Given the description of an element on the screen output the (x, y) to click on. 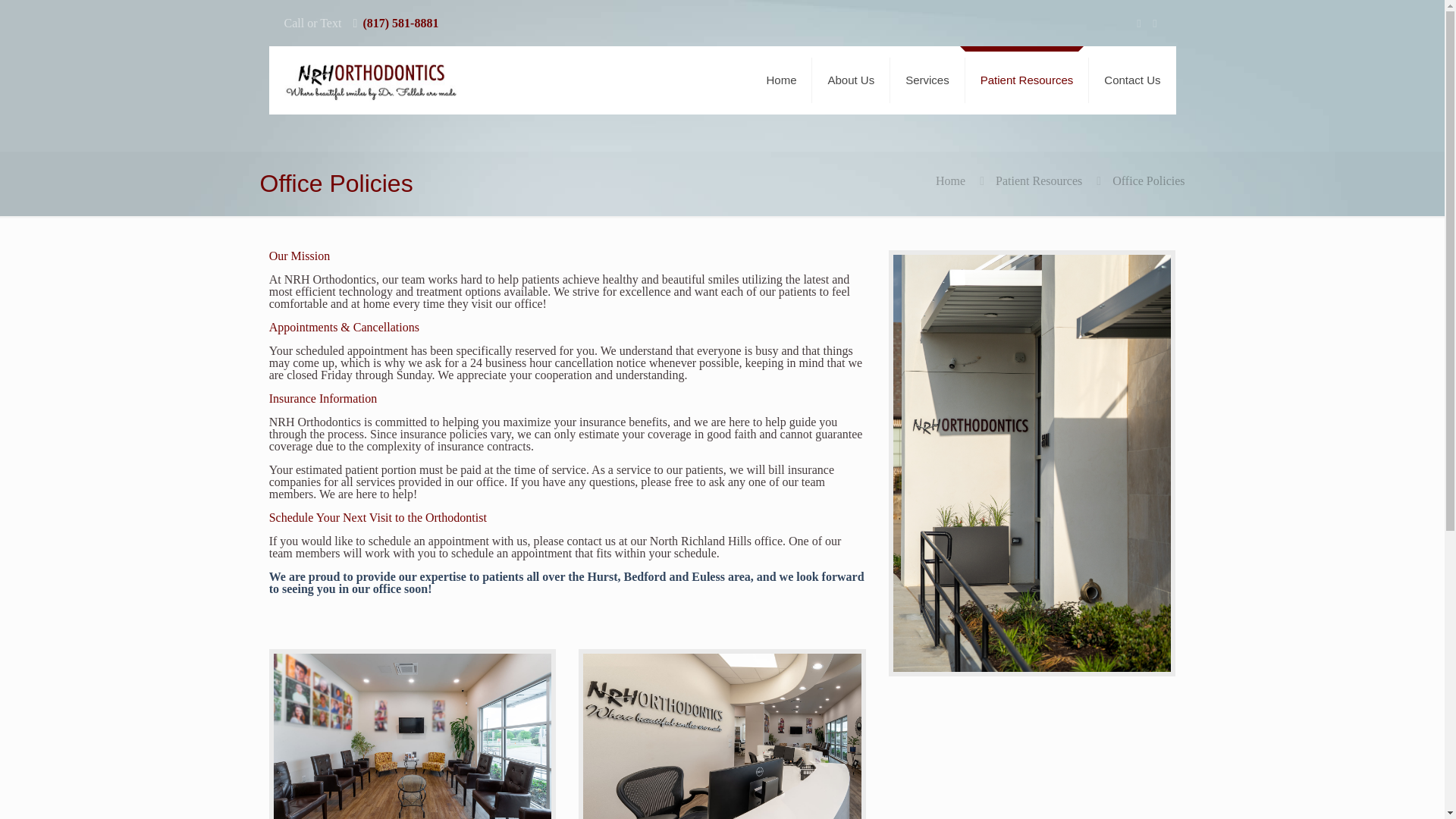
Home (781, 79)
Contact Us (1131, 79)
Home (950, 180)
Patient Resources (1027, 79)
Services (927, 79)
Patient Resources (1038, 180)
About Us (850, 79)
